Given the description of an element on the screen output the (x, y) to click on. 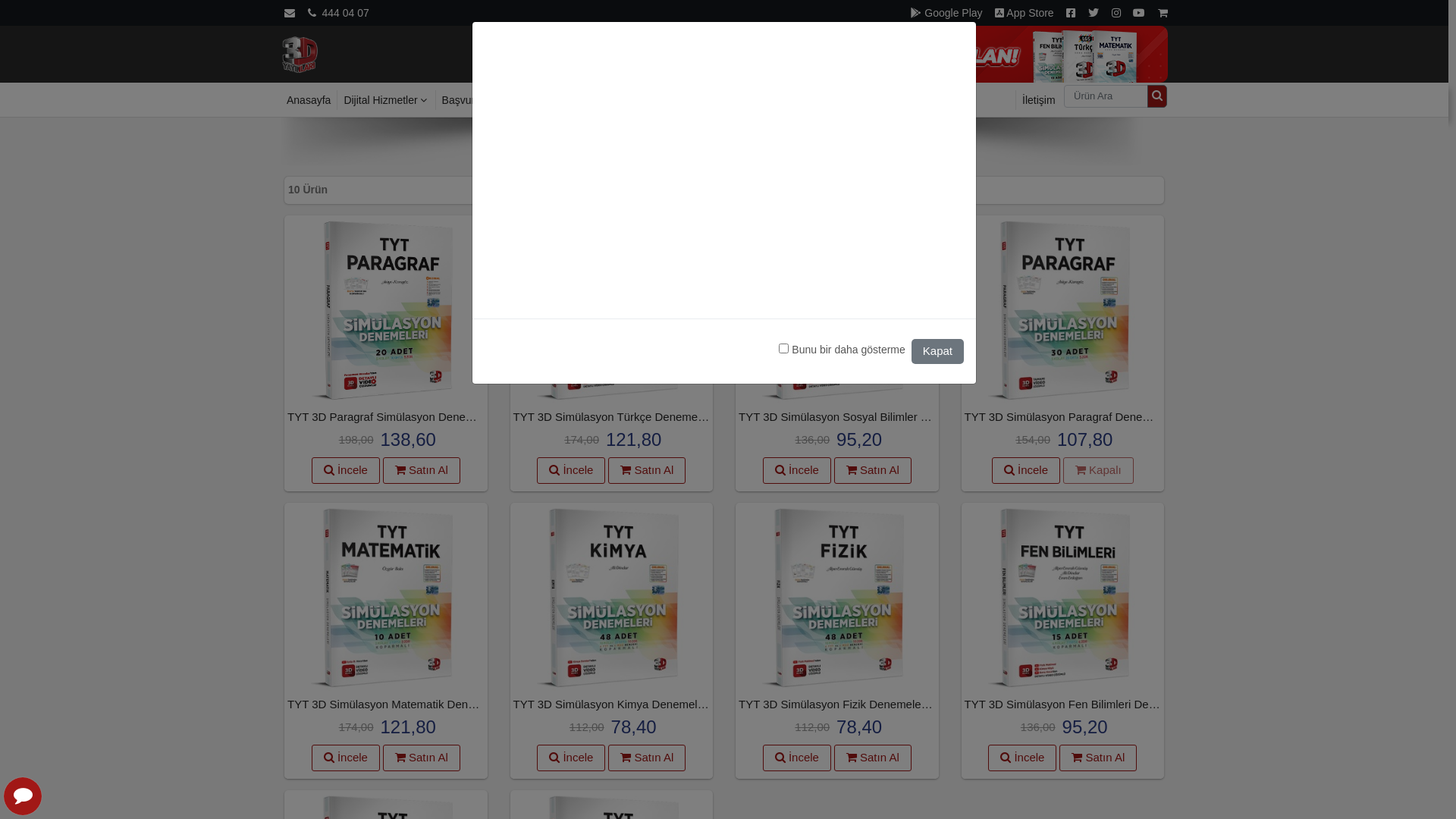
  444 04 07 Element type: text (338, 12)
Facebook Element type: hover (1070, 12)
Sepet Element type: hover (1162, 12)
App Store Element type: text (1023, 12)
Anasayfa Element type: text (308, 99)
Twitter Element type: hover (1093, 12)
Google Play Element type: text (946, 12)
Anasayfa Element type: hover (299, 53)
Youtube Element type: hover (1138, 12)
Kapat Element type: text (937, 351)
Dijital Hizmetler Element type: text (385, 99)
Instagram Element type: hover (1115, 12)
